Given the description of an element on the screen output the (x, y) to click on. 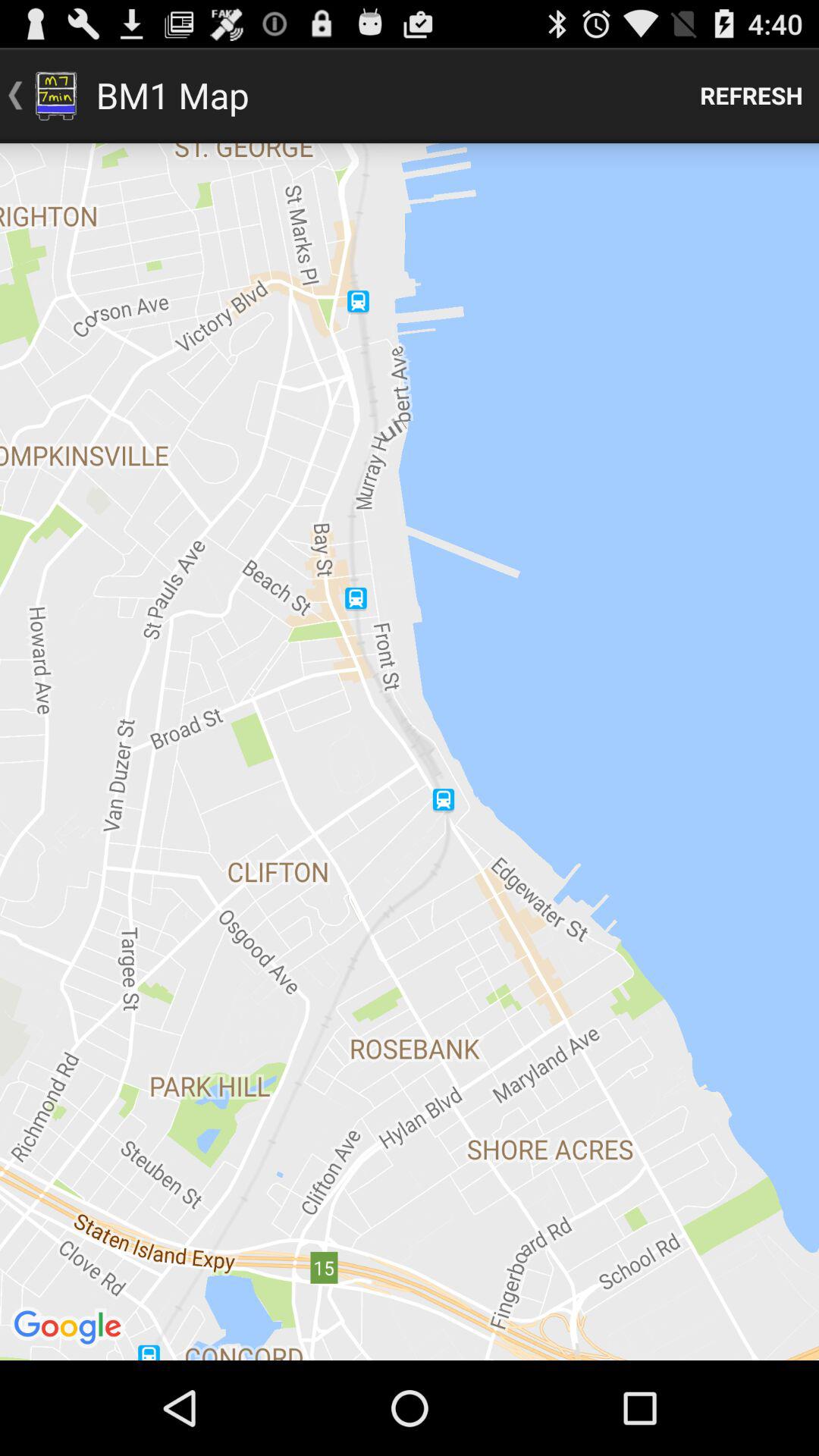
launch item next to bm1 map app (751, 95)
